Given the description of an element on the screen output the (x, y) to click on. 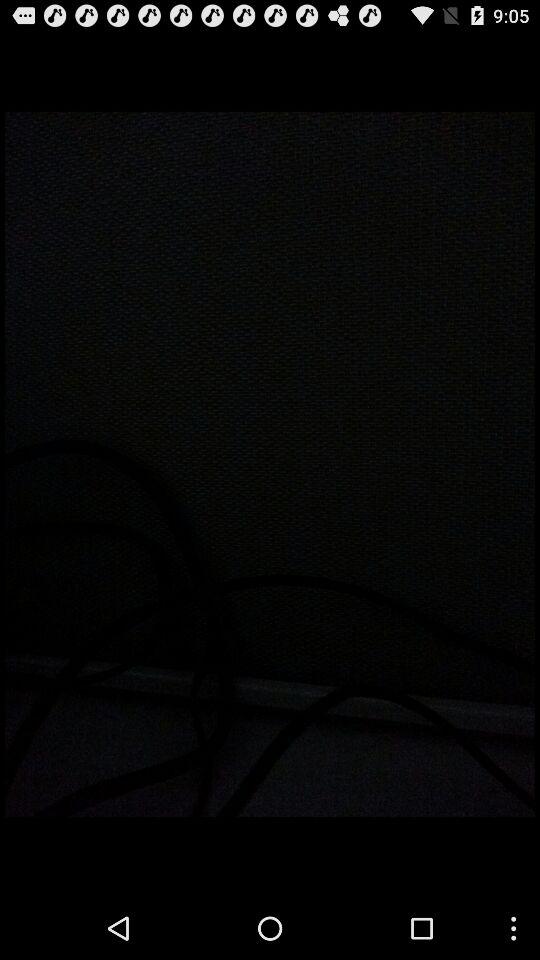
press item at the center (269, 463)
